Given the description of an element on the screen output the (x, y) to click on. 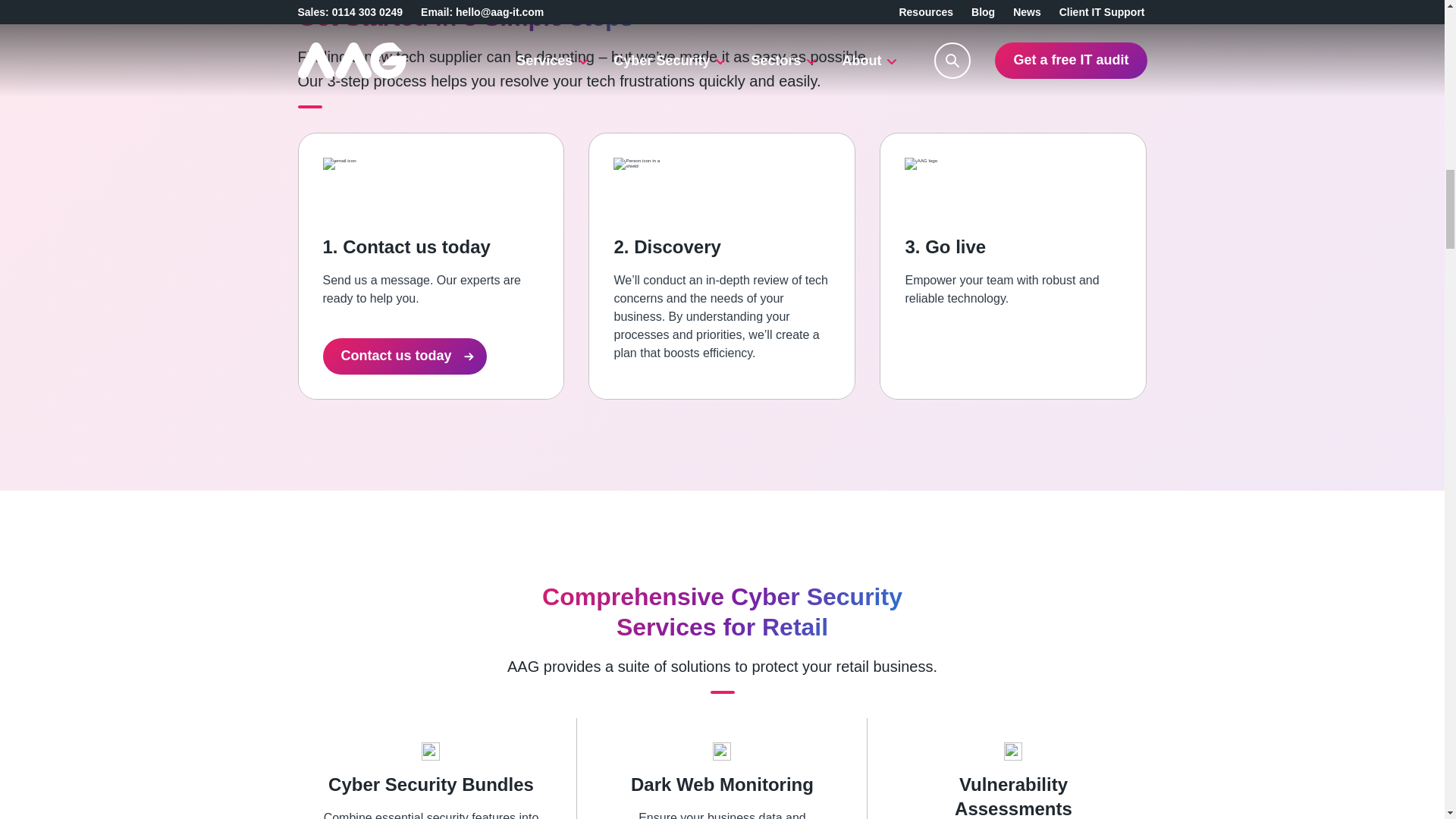
Icon-cloud-solutions (639, 184)
Icon-email (349, 184)
